Given the description of an element on the screen output the (x, y) to click on. 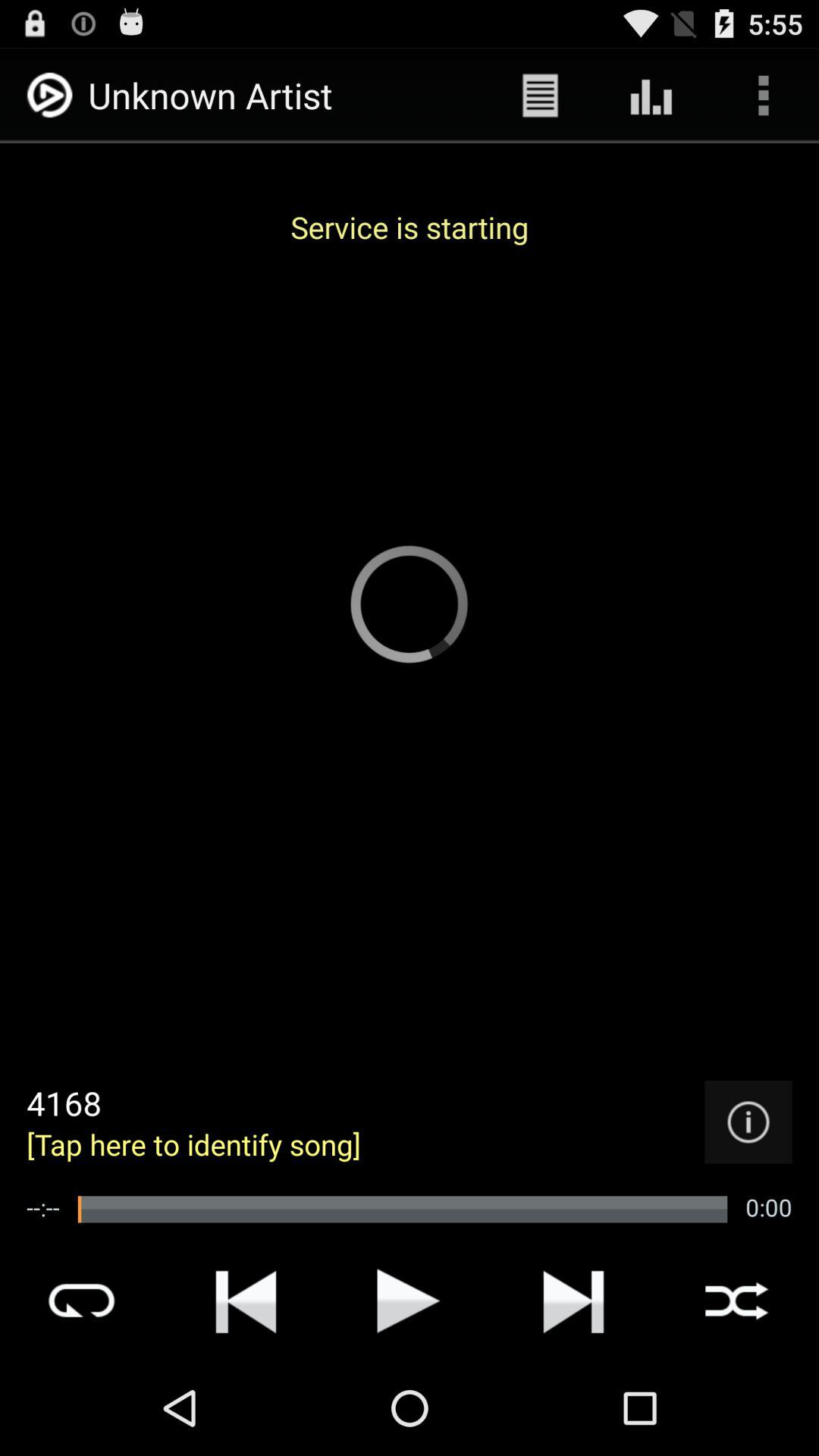
swipe until the service is starting app (409, 227)
